Given the description of an element on the screen output the (x, y) to click on. 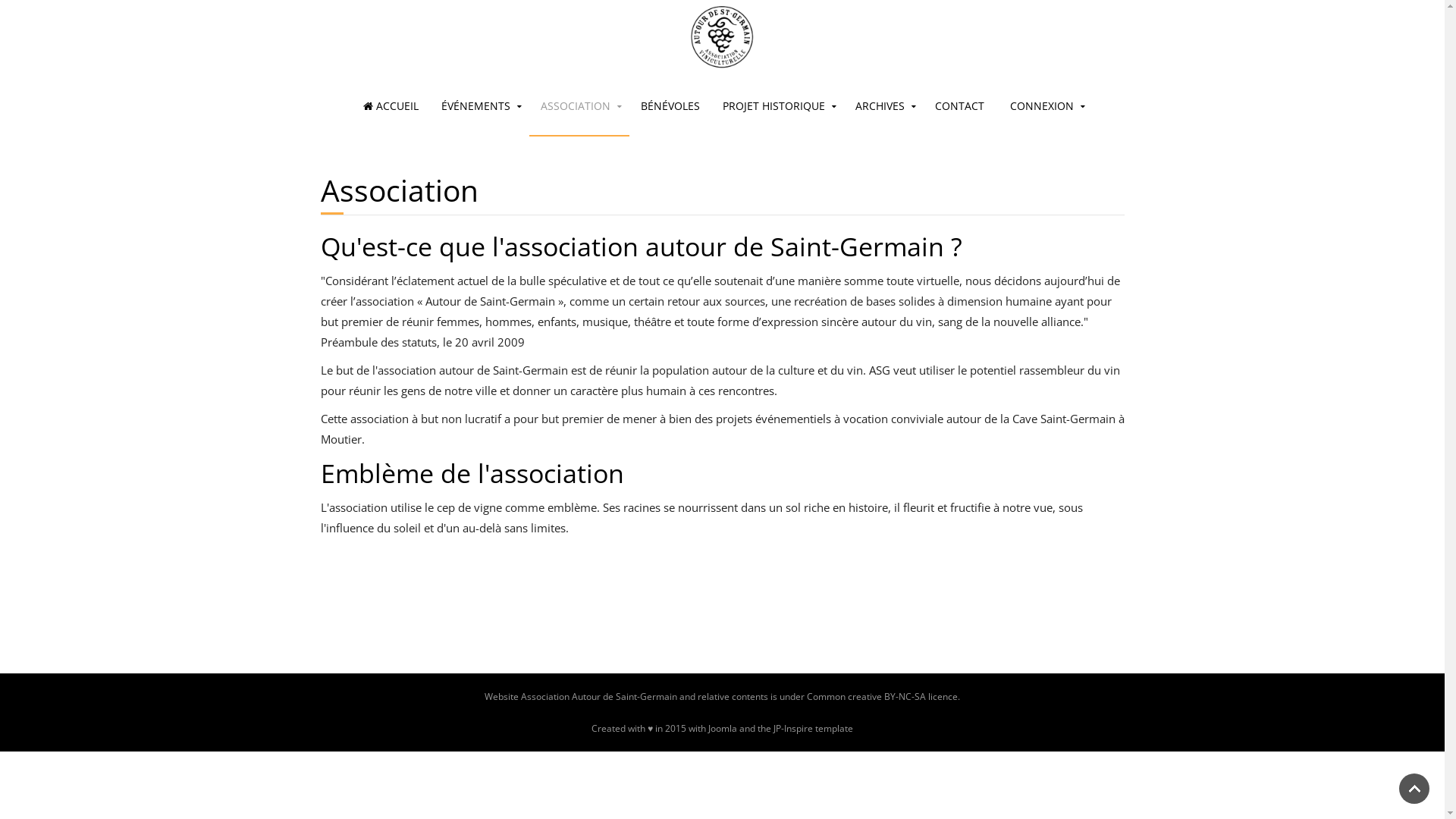
CONTACT Element type: text (959, 105)
ACCUEIL Element type: text (390, 105)
PROJET HISTORIQUE Element type: text (777, 105)
ASSOCIATION Element type: text (579, 105)
ARCHIVES Element type: text (883, 105)
CONNEXION Element type: text (1045, 105)
